Given the description of an element on the screen output the (x, y) to click on. 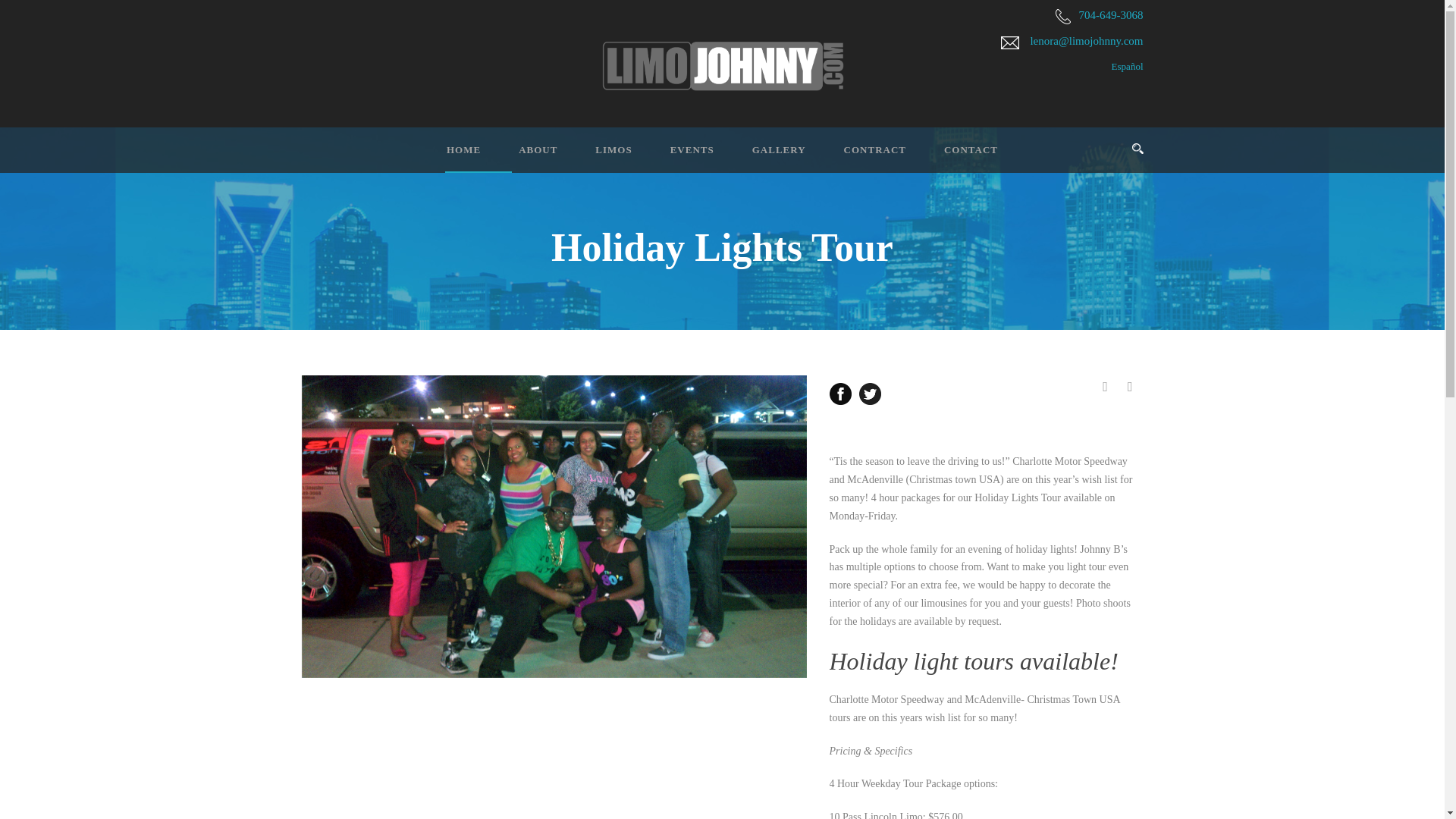
ABOUT (518, 156)
HOME (454, 156)
Spanish (1071, 66)
704-649-3068 (1110, 15)
CONTACT (951, 156)
GALLERY (760, 156)
EVENTS (672, 156)
CONTRACT (855, 156)
LIMOS (594, 156)
